Given the description of an element on the screen output the (x, y) to click on. 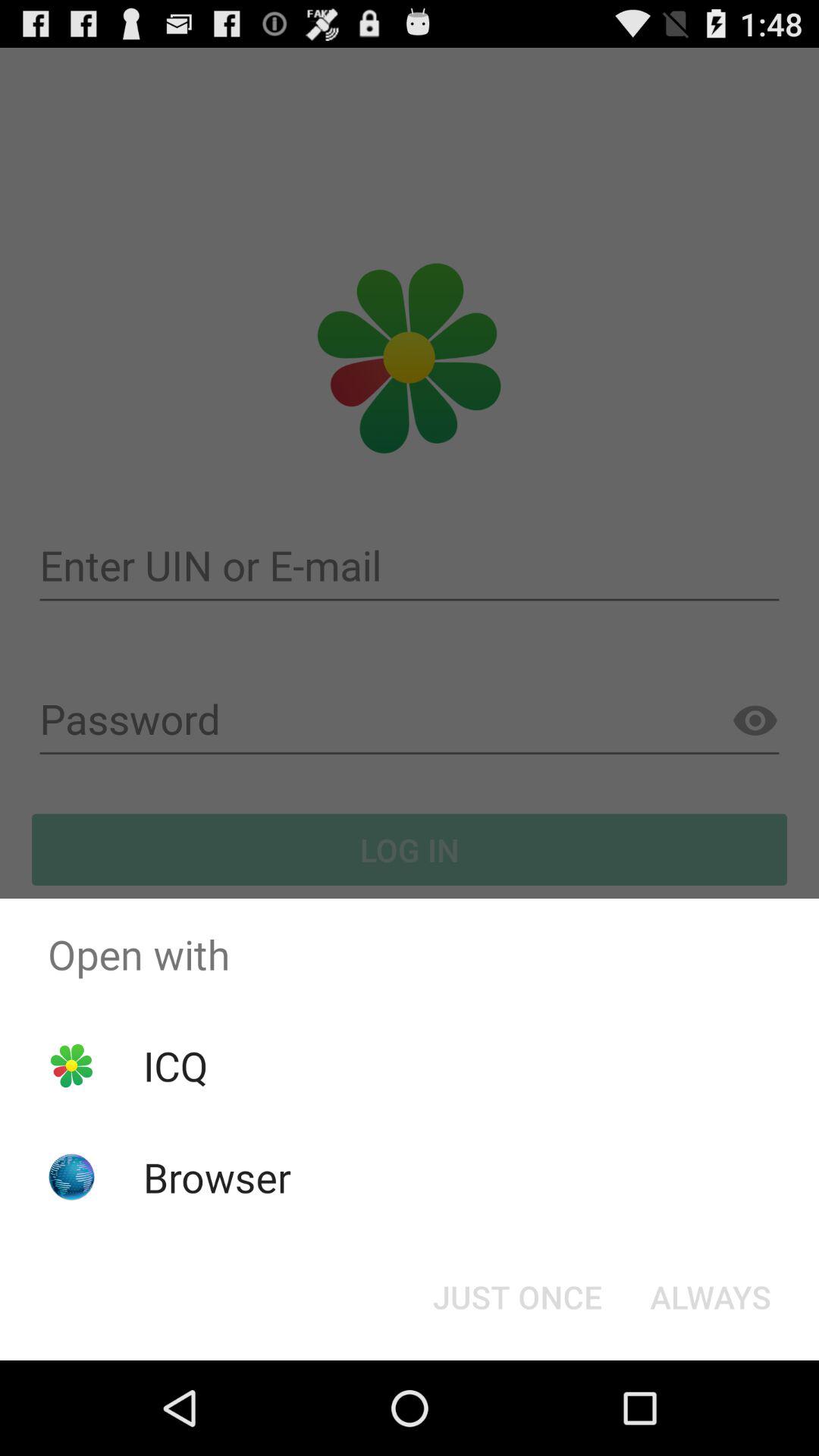
tap icon below the icq (217, 1176)
